Given the description of an element on the screen output the (x, y) to click on. 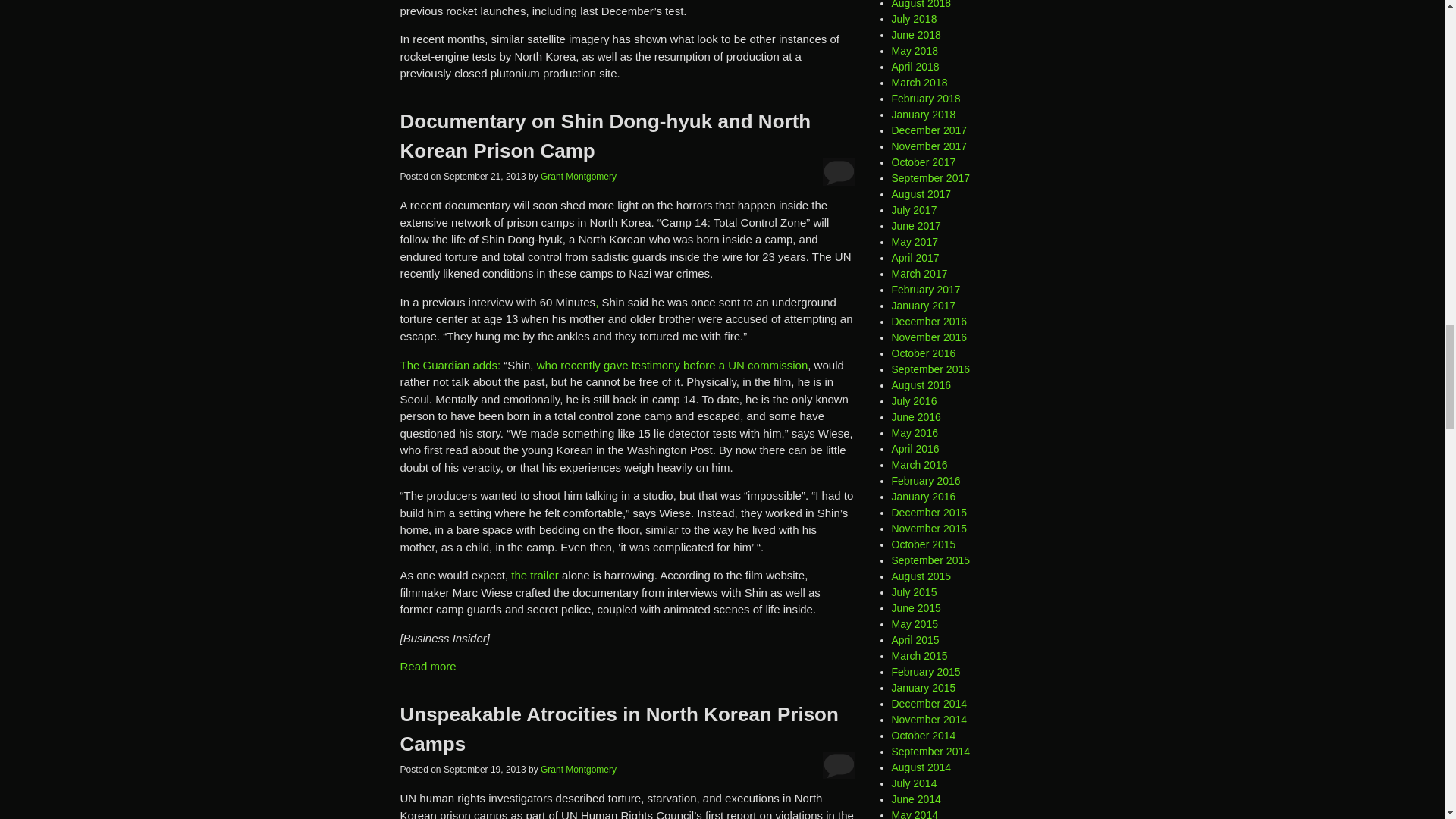
Grant Montgomery (577, 769)
Unspeakable Atrocities in North Korean Prison Camps (619, 728)
The Guardian adds: (450, 364)
the trailer (535, 574)
Posts by Grant Montgomery (577, 176)
who recently gave testimony before a UN commission (672, 364)
Read more (428, 666)
Unspeakable Atrocities in North Korean Prison Camps (619, 728)
Grant Montgomery (577, 176)
Documentary on Shin Dong-hyuk and North Korean Prison Camp (605, 135)
